Given the description of an element on the screen output the (x, y) to click on. 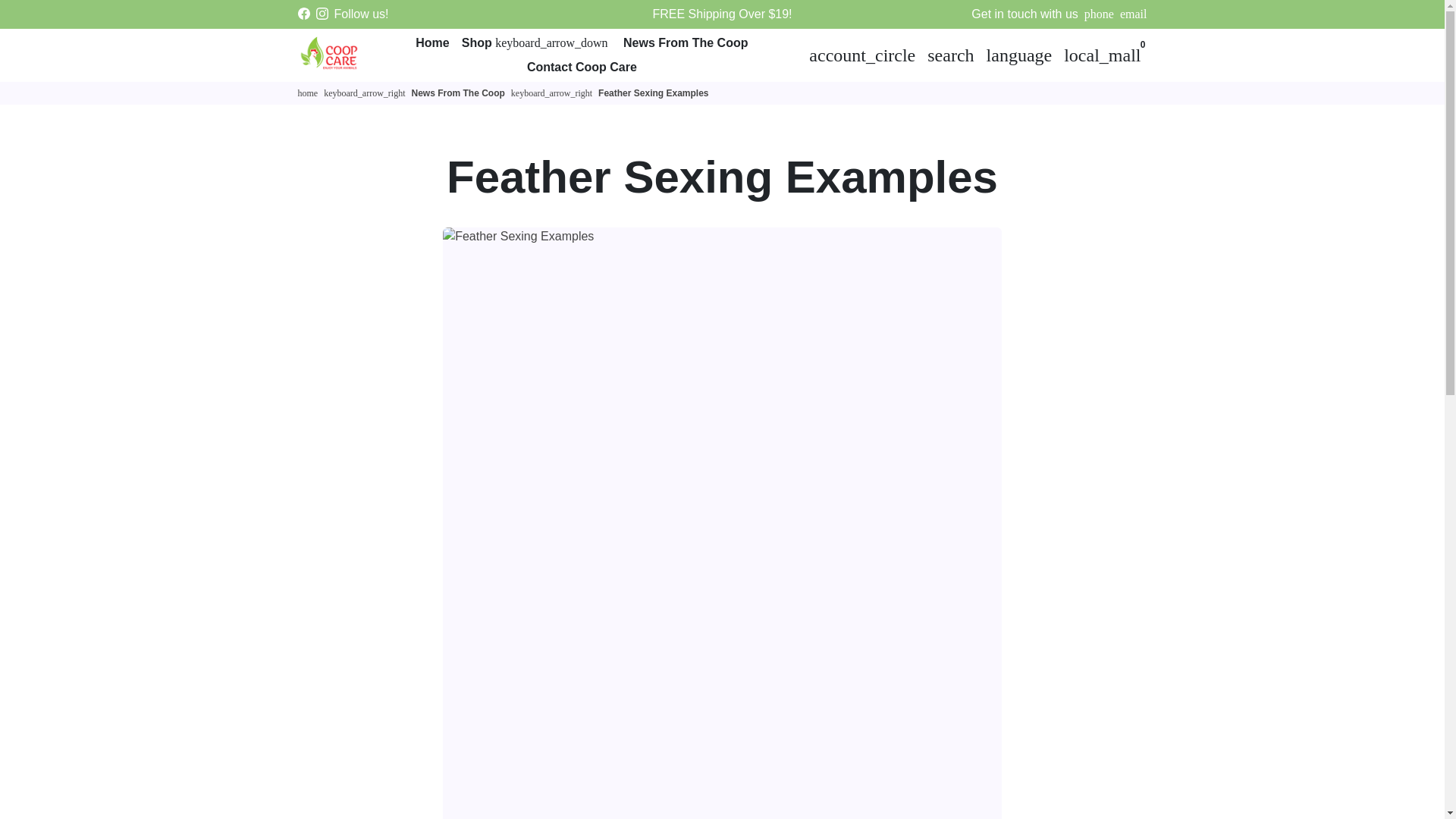
Contact Coop Care (582, 66)
Coop care (307, 92)
Search (950, 54)
search (950, 54)
Home (431, 42)
Log In (862, 54)
email (1133, 13)
8132051298 (1098, 13)
Coop Care on Instagram (321, 13)
News From The Coop (685, 42)
phone (1098, 13)
Cart (1102, 54)
Coop Care on Facebook (302, 13)
